Given the description of an element on the screen output the (x, y) to click on. 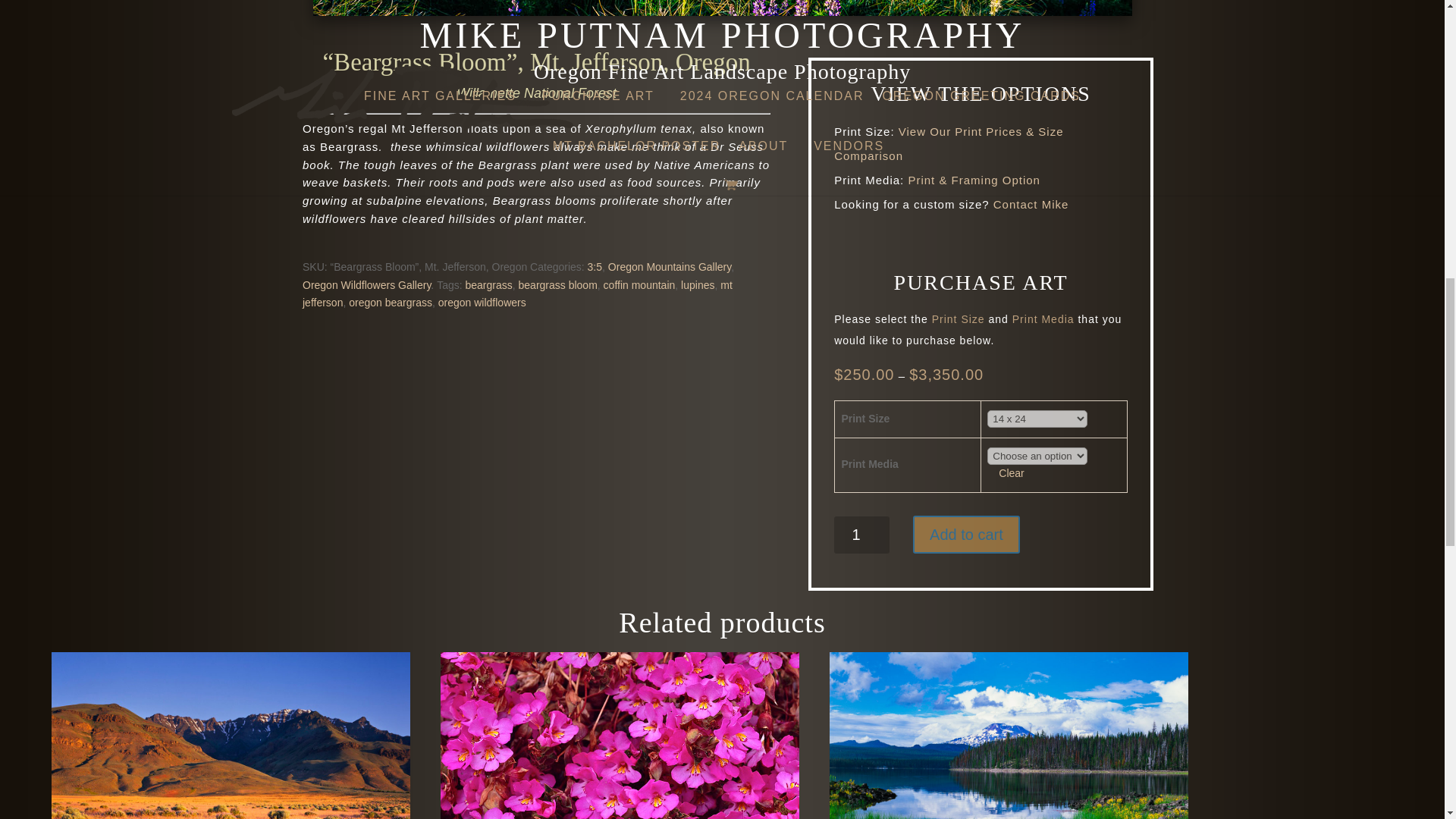
1 (861, 534)
